Given the description of an element on the screen output the (x, y) to click on. 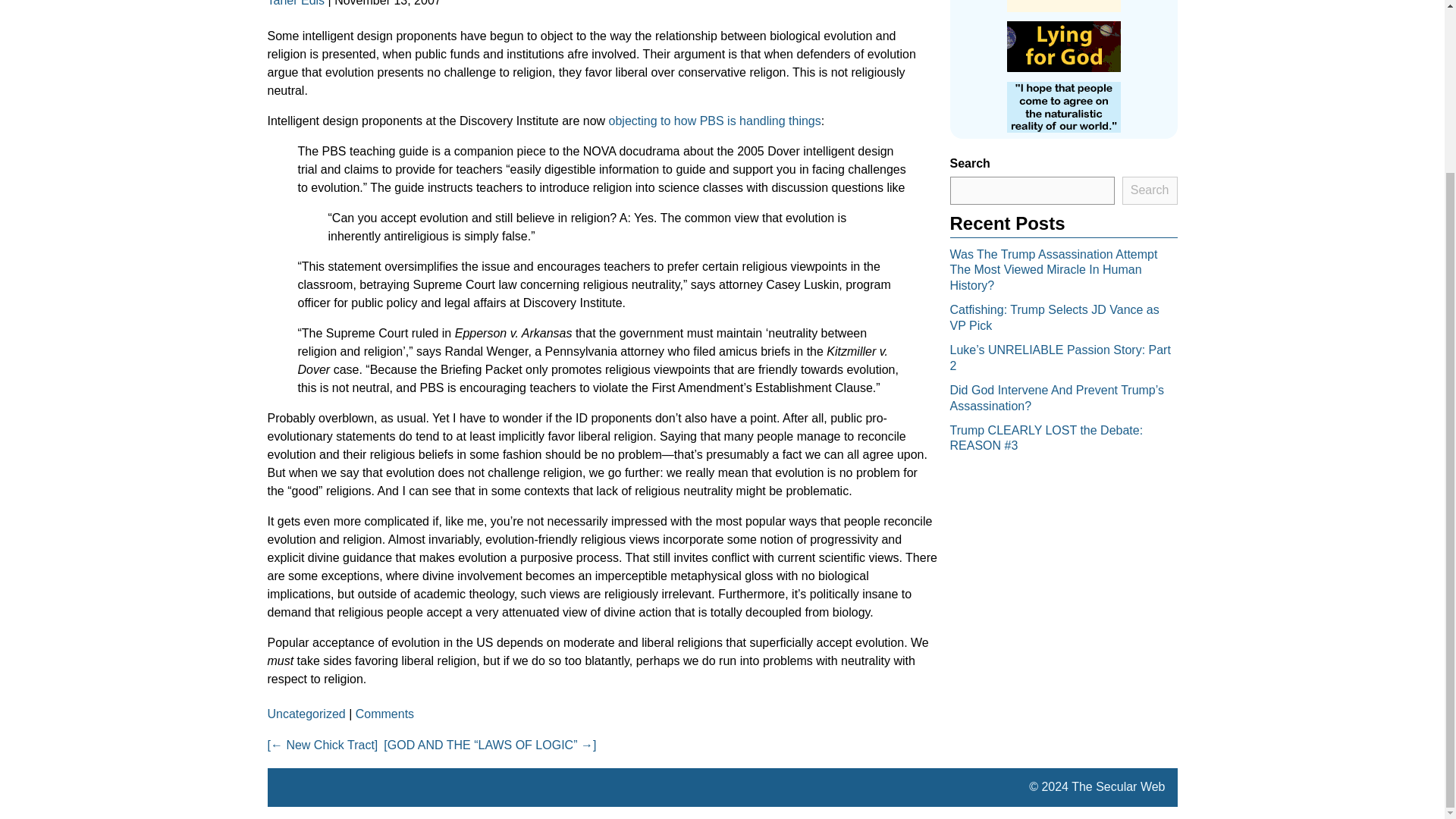
November 13, 2007 (387, 3)
Catfishing: Trump Selects JD Vance as VP Pick (1053, 317)
Taner Edis (295, 3)
Search (1149, 189)
Uncategorized (305, 713)
objecting to how PBS is handling things (714, 120)
Posts by Taner Edis (295, 3)
Comments (384, 713)
